Given the description of an element on the screen output the (x, y) to click on. 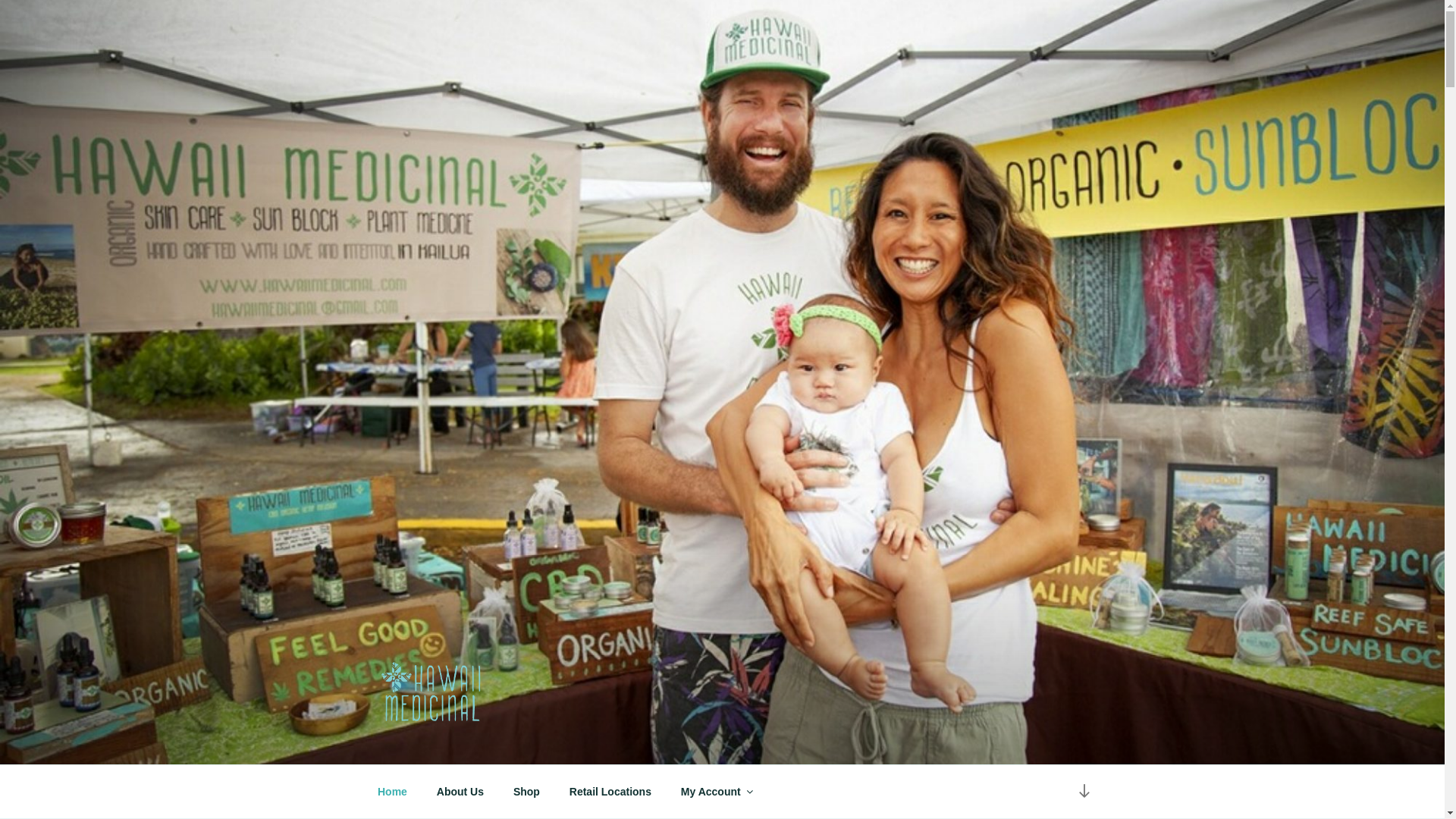
My Account (715, 791)
Shop (526, 791)
Retail Locations (609, 791)
Scroll down to content (1082, 791)
Scroll down to content (1082, 791)
About Us (459, 791)
Home (392, 791)
